Given the description of an element on the screen output the (x, y) to click on. 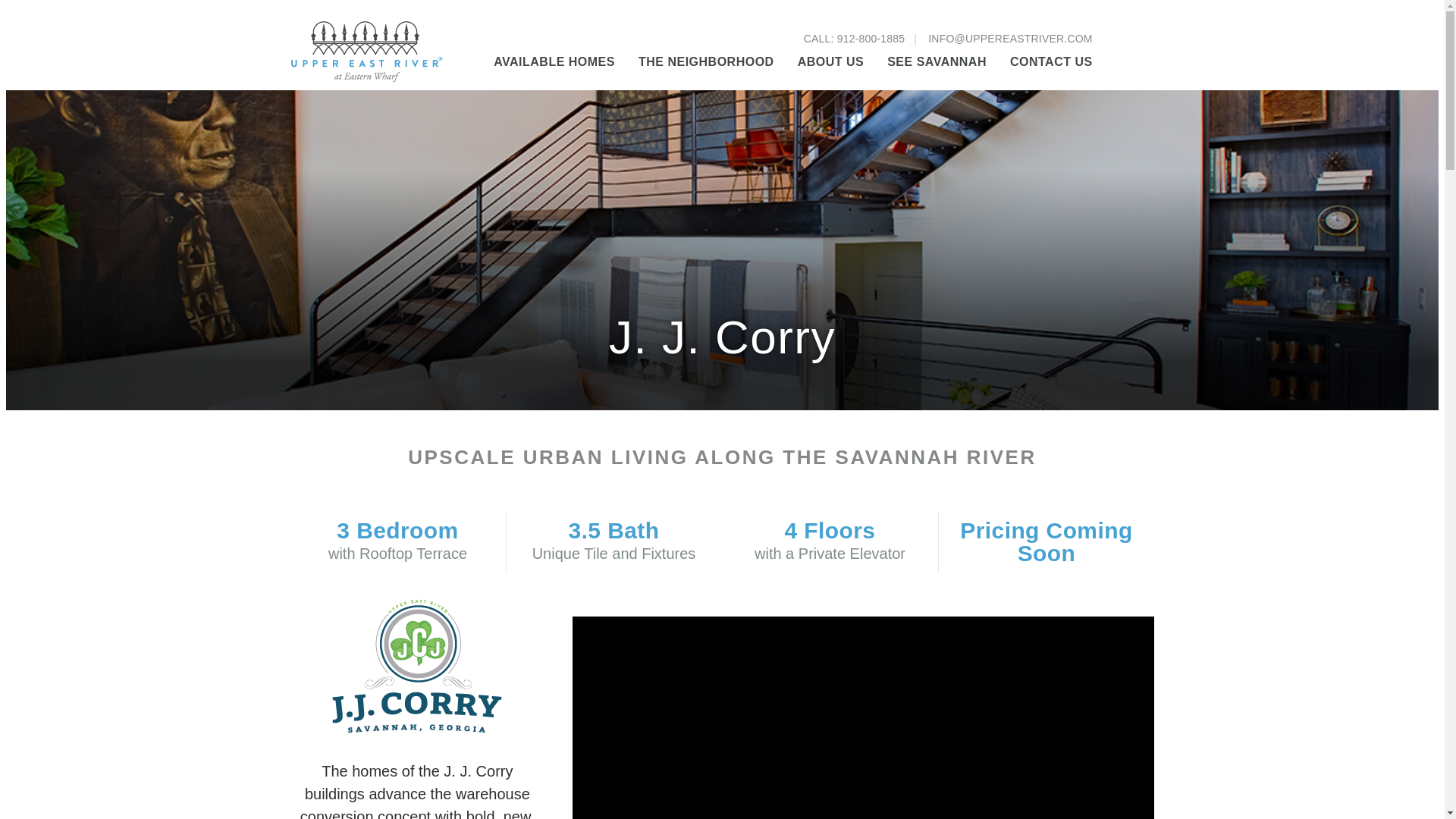
CONTACT US (1051, 62)
vimeo Video Player (863, 717)
AVAILABLE HOMES (553, 62)
SEE SAVANNAH (936, 62)
ABOUT US (830, 62)
912-800-1885 (871, 38)
THE NEIGHBORHOOD (706, 62)
